Given the description of an element on the screen output the (x, y) to click on. 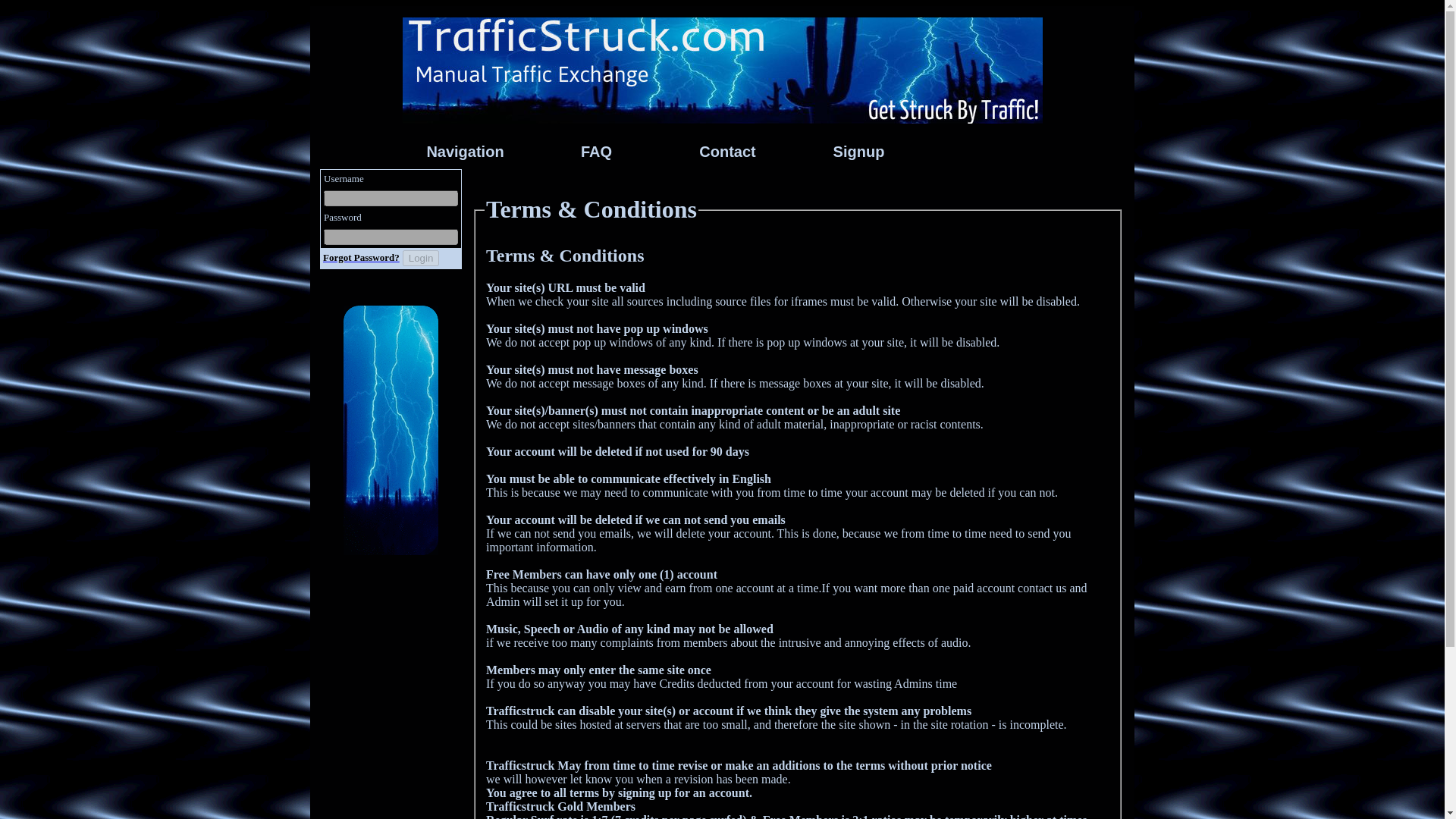
Navigation (464, 151)
Login (421, 258)
FAQ (596, 151)
Contact (726, 151)
Forgot Password? (360, 256)
Login (421, 258)
Signup (858, 151)
